Given the description of an element on the screen output the (x, y) to click on. 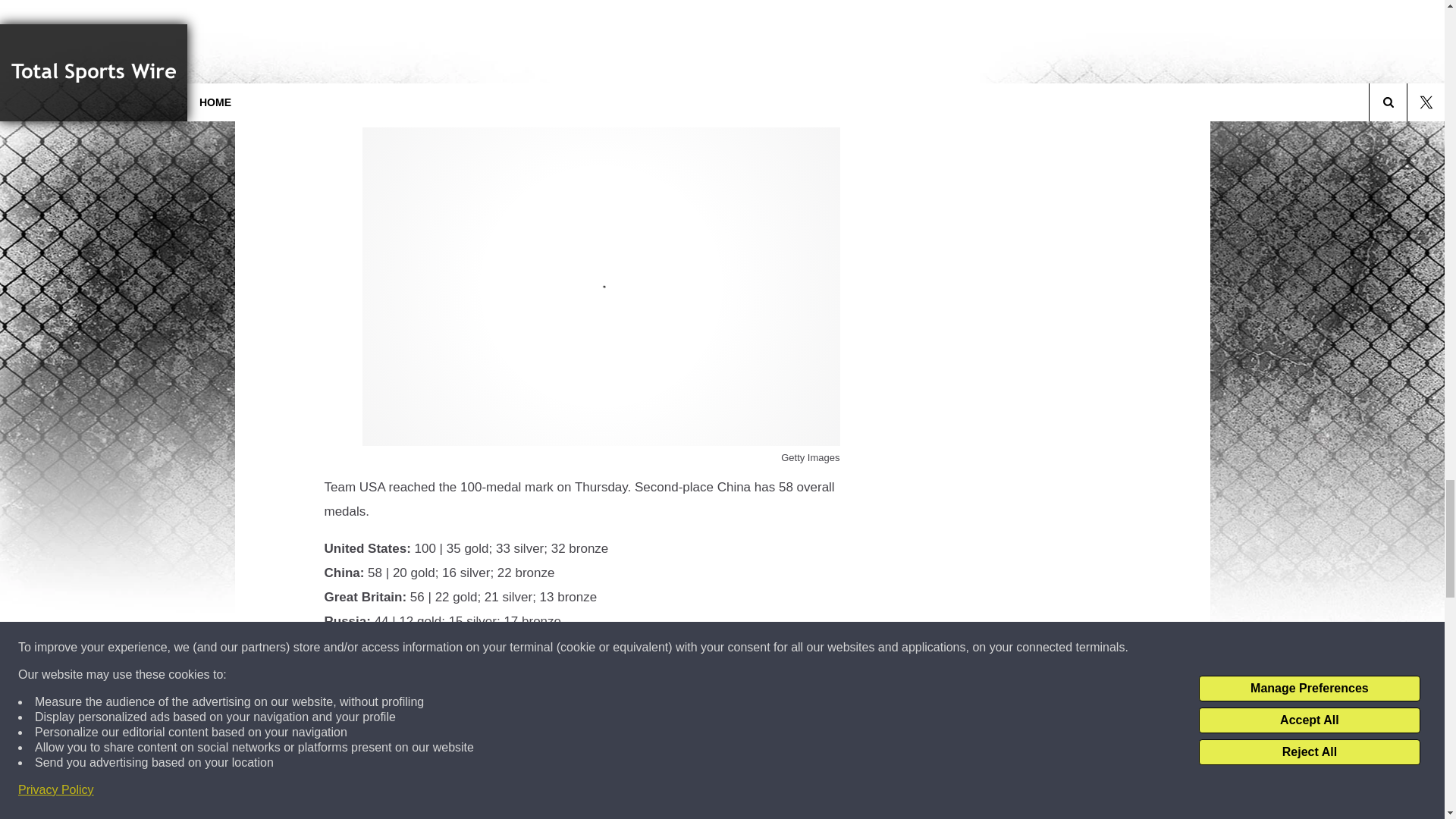
Summer Olympics (497, 743)
News (398, 743)
Sports (432, 743)
Full Medal Chart (374, 682)
